Given the description of an element on the screen output the (x, y) to click on. 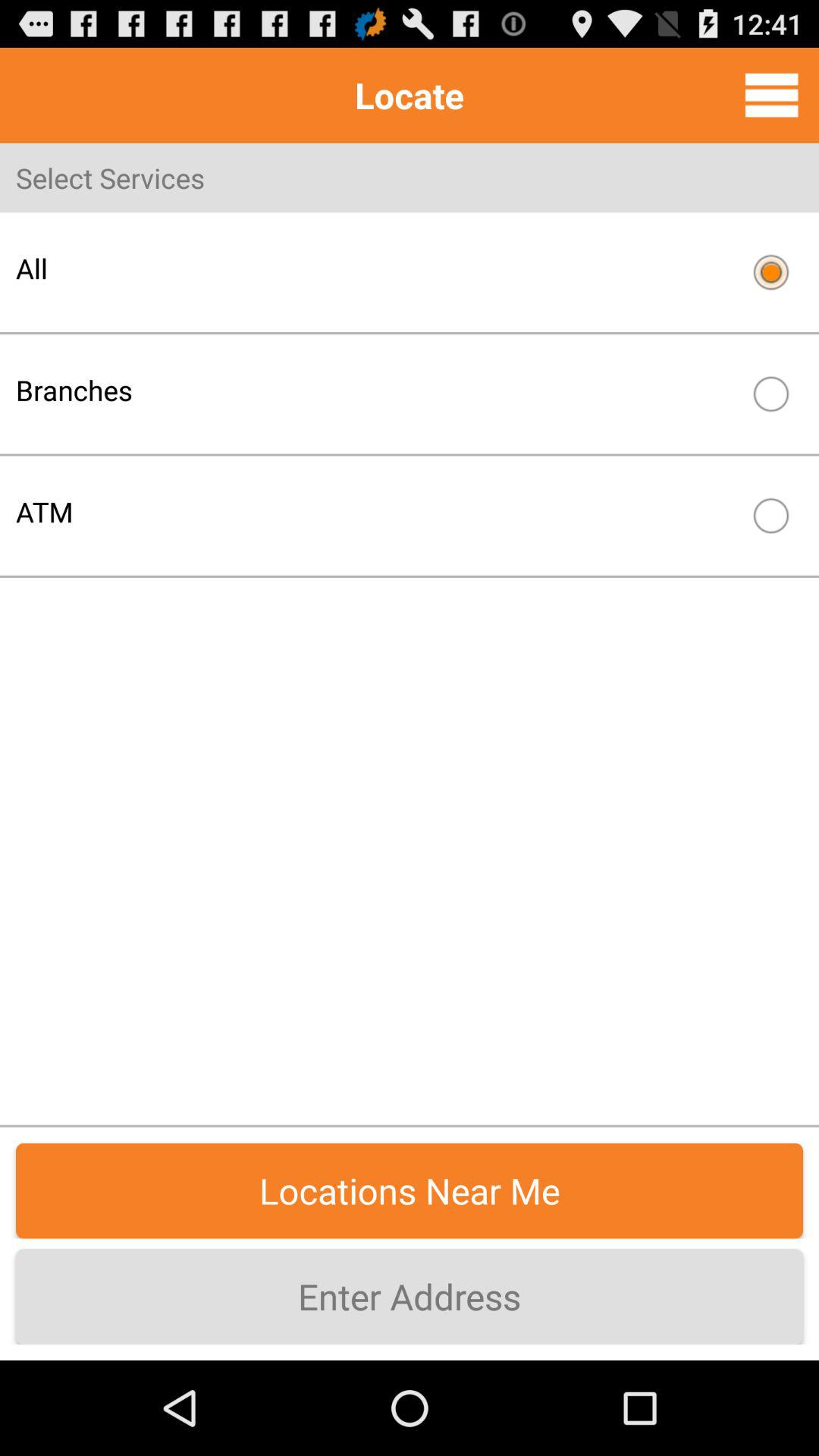
launch the icon to the right of the locate (771, 95)
